Given the description of an element on the screen output the (x, y) to click on. 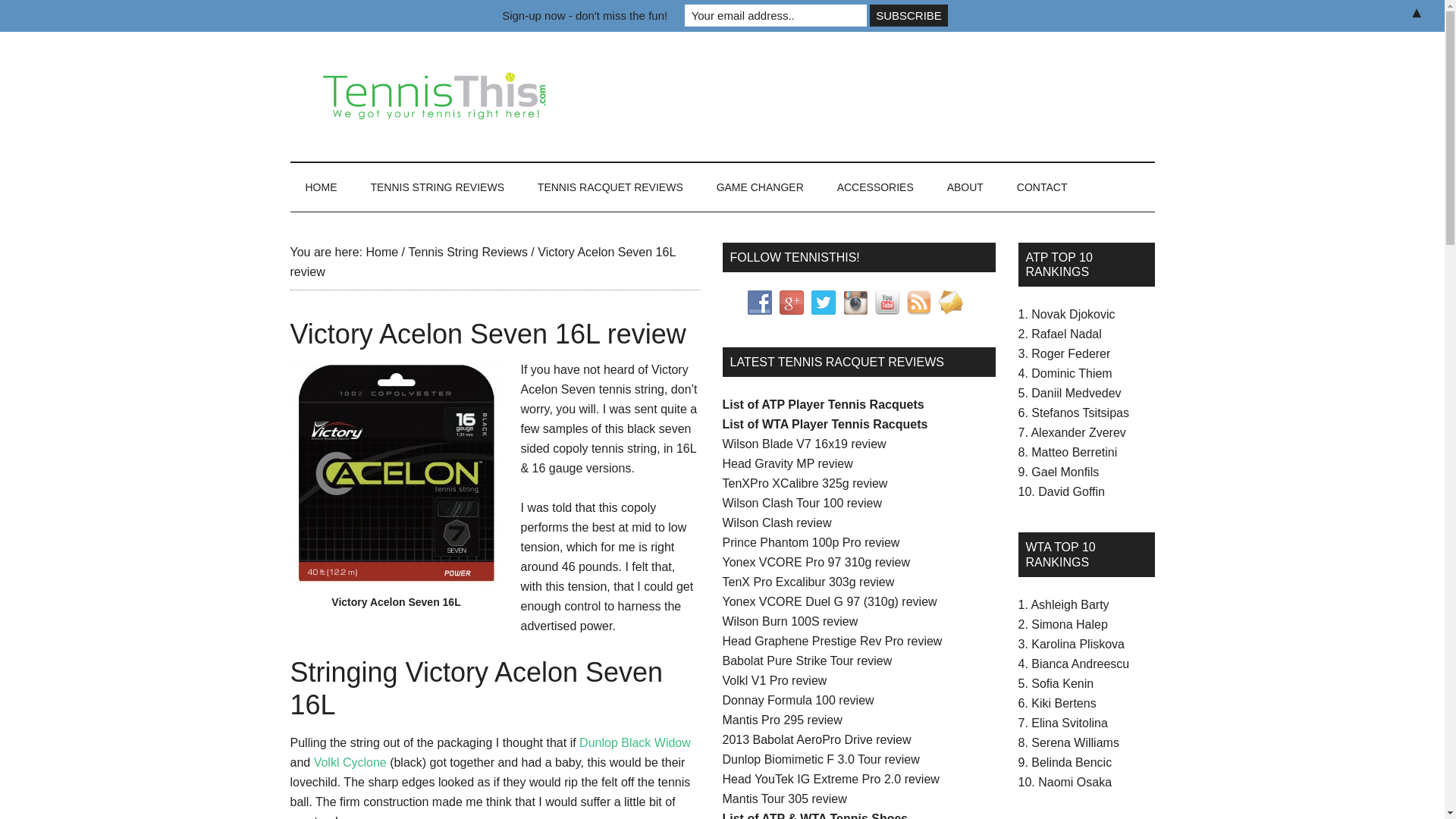
 RSS (919, 302)
Wilson Clash Tour 100 review (801, 502)
Subscribe (909, 15)
Head Gravity MP review (786, 463)
 Facebook (759, 302)
HOME (320, 186)
Home (381, 251)
 E-mail (950, 302)
ABOUT (964, 186)
TenXPro XCalibre 325g review (804, 482)
GAME CHANGER (759, 186)
List of WTA Player Tennis Racquets (824, 423)
List of ATP Player Tennis Racquets (822, 404)
TENNIS STRING REVIEWS (437, 186)
TENNIS RACQUET REVIEWS (610, 186)
